Given the description of an element on the screen output the (x, y) to click on. 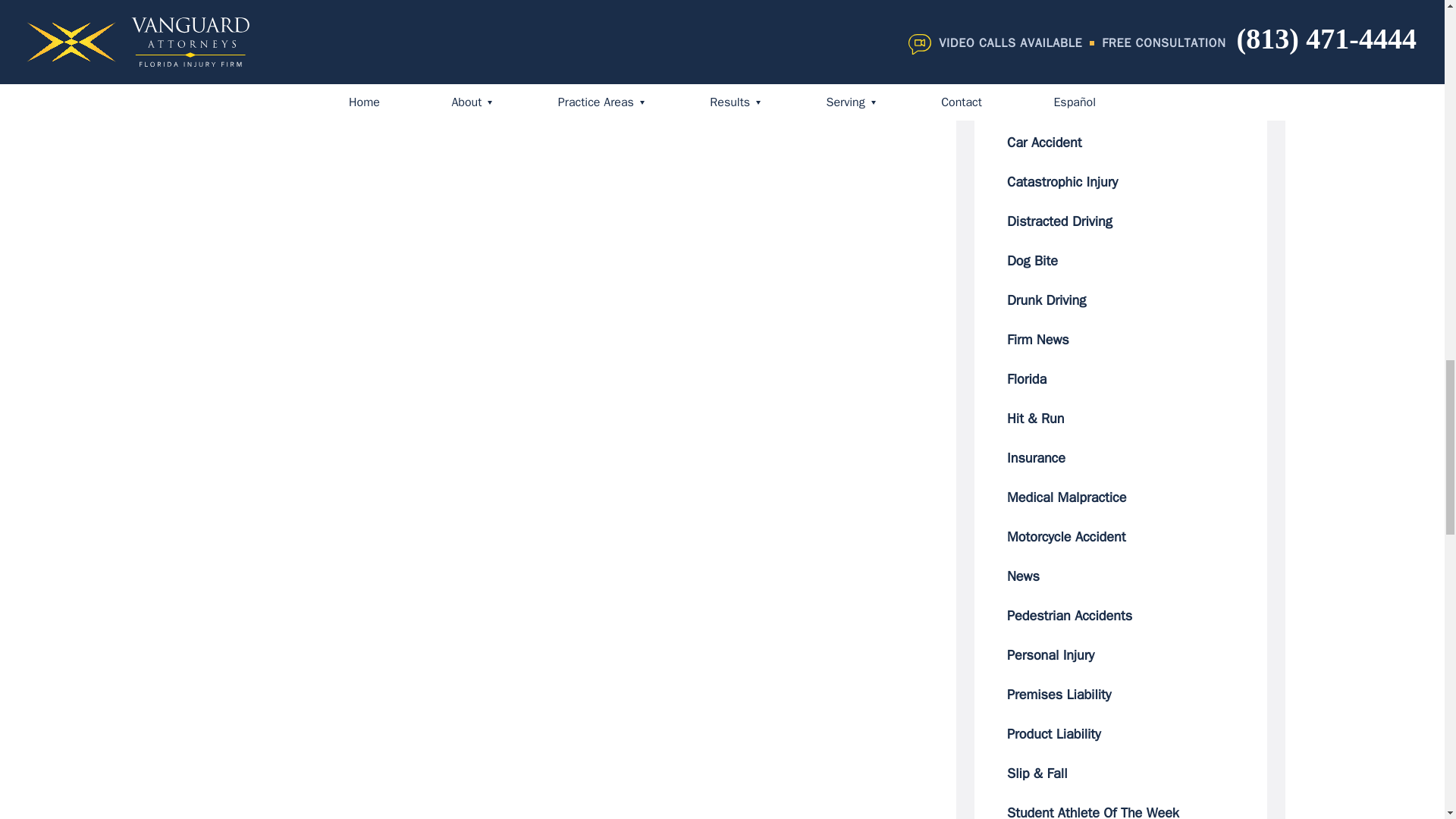
contact Vanguard Attorneys (594, 54)
